Given the description of an element on the screen output the (x, y) to click on. 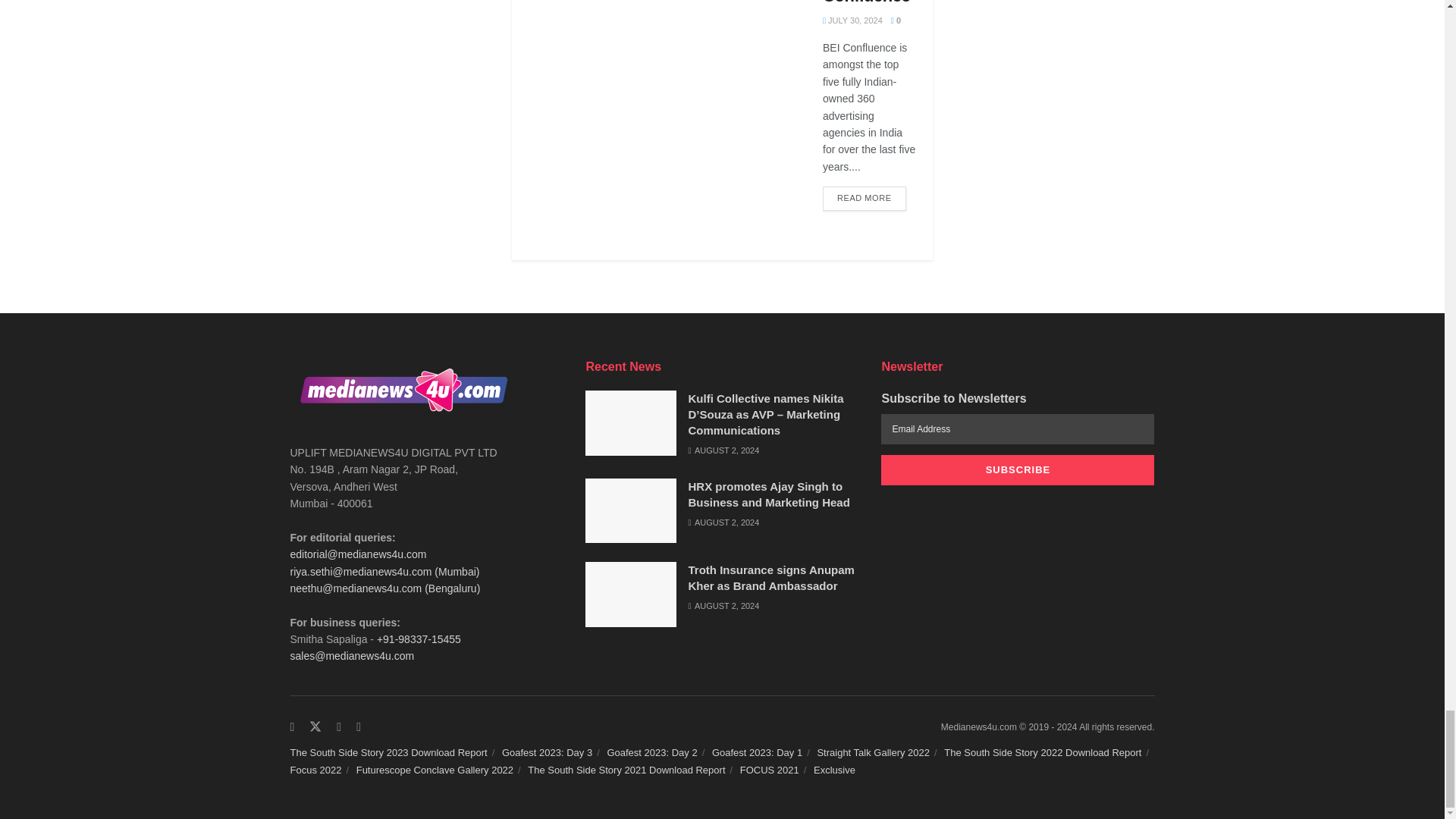
Subscribe (1017, 470)
